Given the description of an element on the screen output the (x, y) to click on. 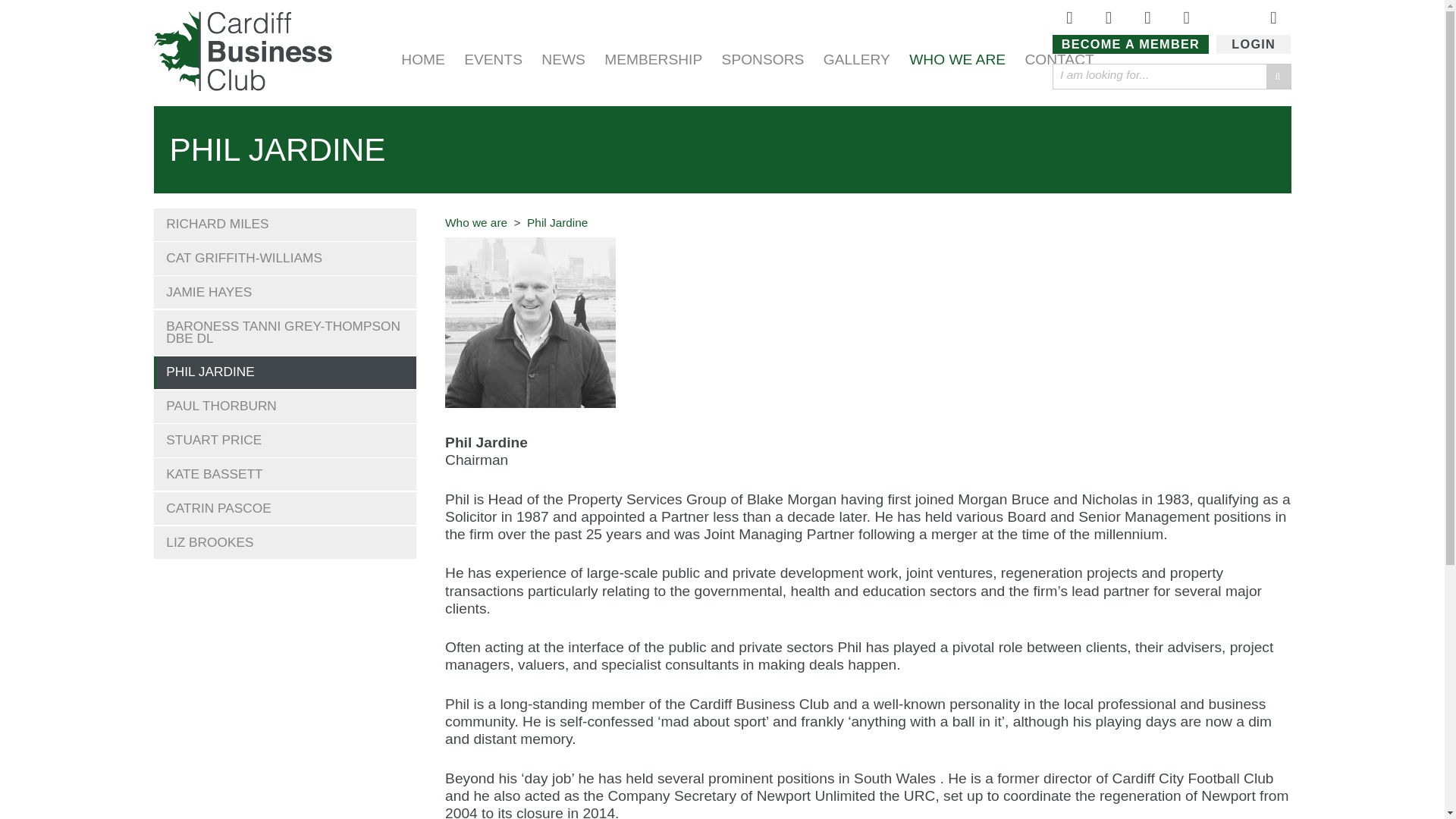
CONTACT (1059, 60)
Richard Miles (283, 224)
CATRIN PASCOE (283, 508)
EVENTS (493, 60)
Baroness Tanni Grey-Thompson DBE DL (283, 332)
Who we are (475, 222)
WHO WE ARE (957, 60)
Events (493, 60)
Phil Jardine (283, 372)
HOME (423, 60)
MEMBERSHIP (652, 60)
Who we are (957, 60)
JAMIE HAYES (283, 292)
KATE BASSETT (283, 473)
Click to search... (1278, 76)
